Given the description of an element on the screen output the (x, y) to click on. 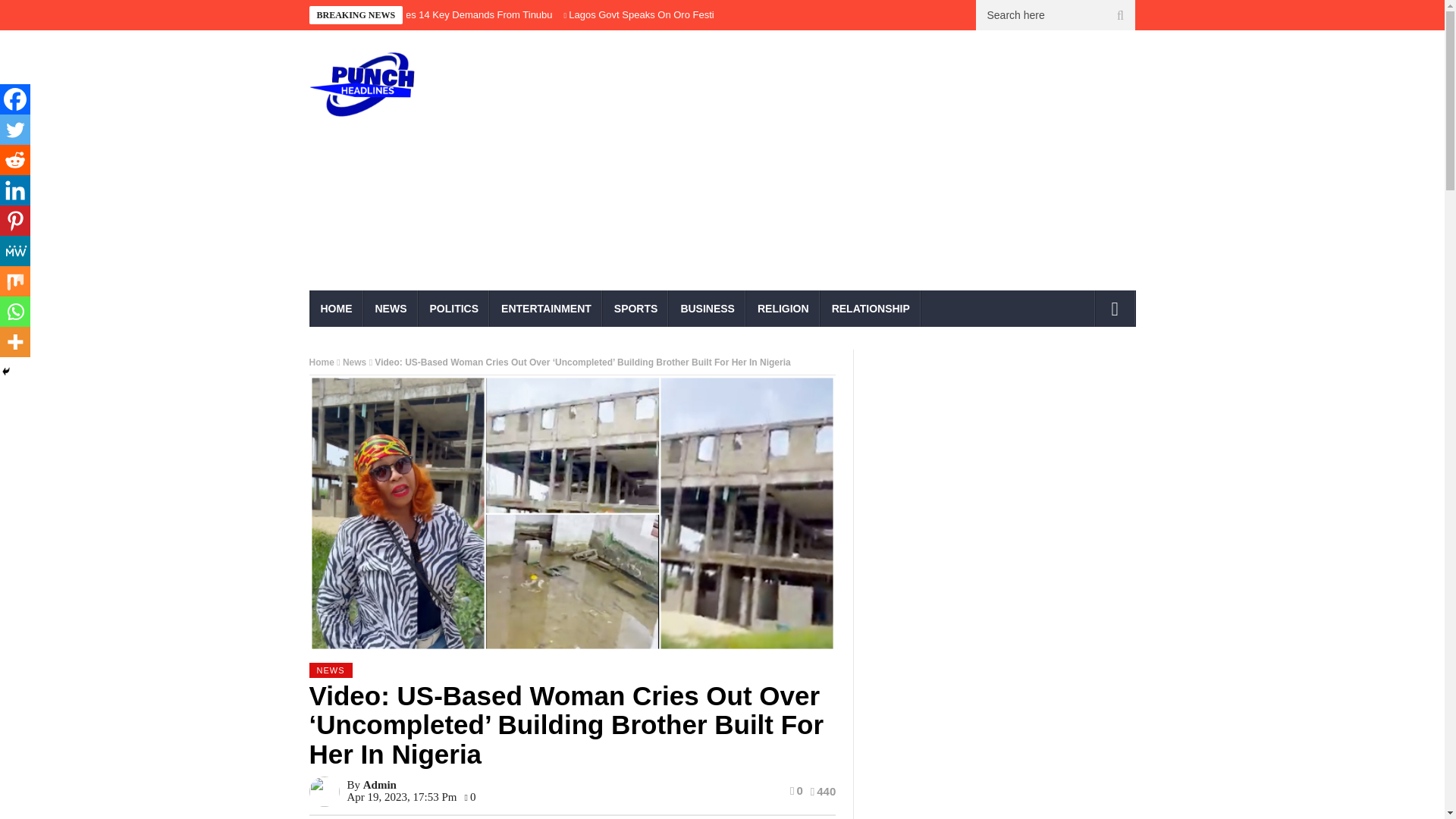
HOME (336, 308)
POLITICS (454, 308)
Posts by admin (379, 784)
SPORTS (635, 308)
Like (796, 789)
Admin (379, 784)
Advertisement (863, 164)
News (354, 362)
NEWS (330, 670)
RELIGION (783, 308)
0 (796, 789)
Home (321, 362)
NEWS (391, 308)
Lagos Govt Speaks On Oro Festival Celebration Amid Protest (703, 14)
BUSINESS (706, 308)
